Given the description of an element on the screen output the (x, y) to click on. 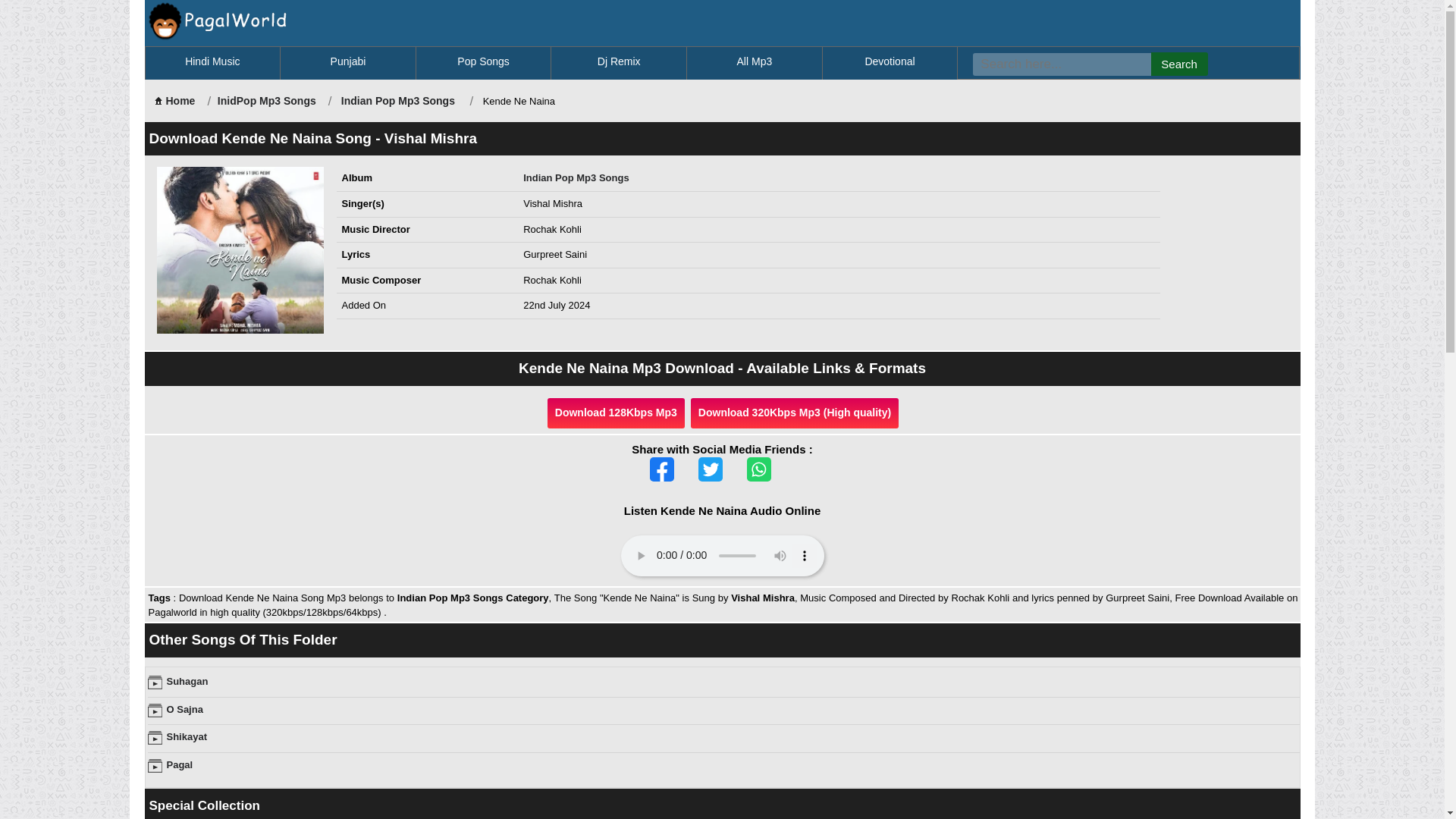
Download 128Kbps Mp3 (615, 413)
Indian Pop Mp3 Songs (397, 101)
Download 128Kbps Mp3  (615, 413)
InidPop Mp3 Songs (265, 101)
Home (174, 101)
O Sajna (185, 708)
Hindi Music (211, 62)
Indian Pop Mp3 Songs (397, 101)
Kende Ne Naina (239, 250)
Dj Remix (617, 62)
